Given the description of an element on the screen output the (x, y) to click on. 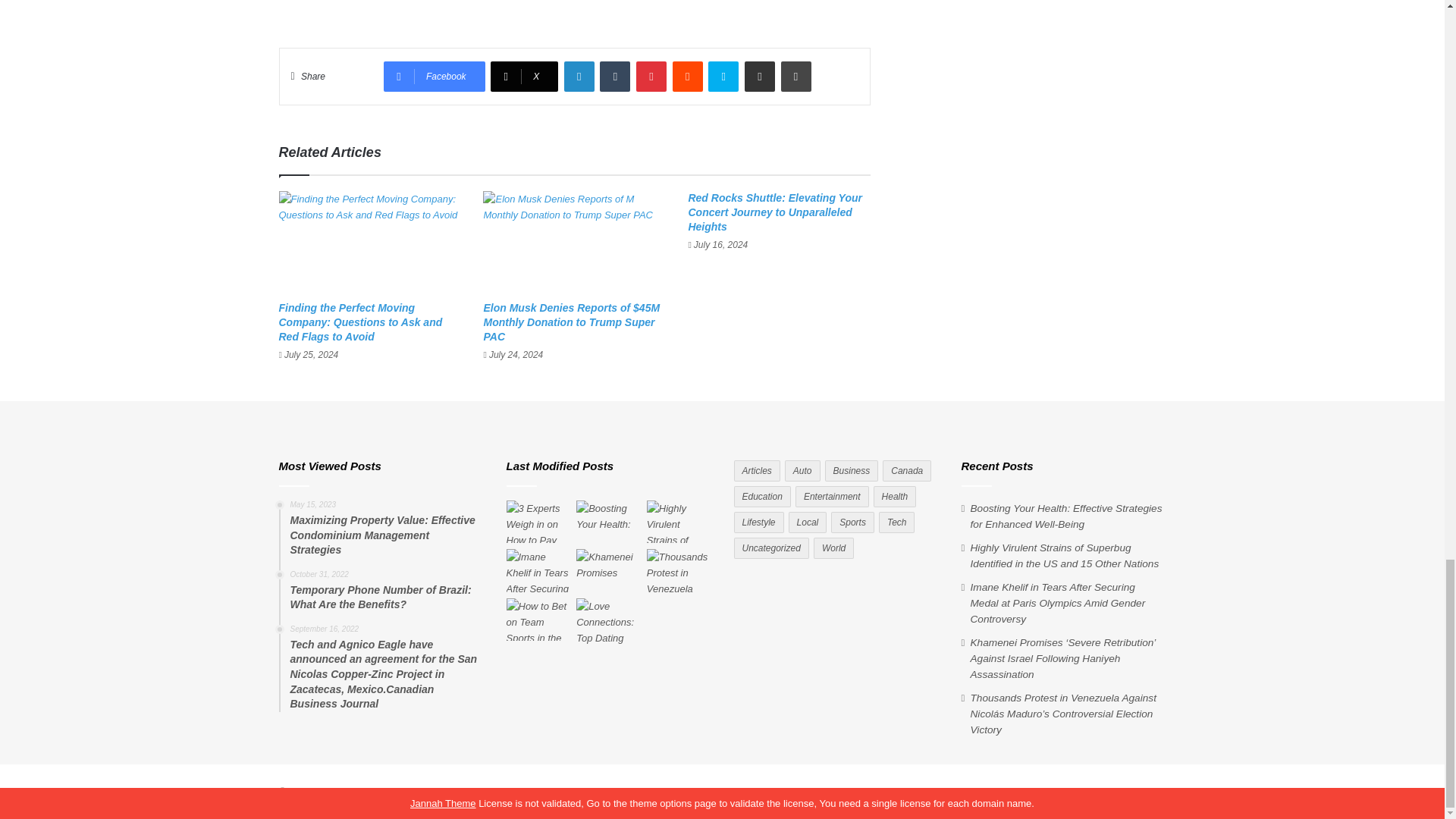
Reddit (687, 76)
Tumblr (614, 76)
Facebook (434, 76)
Skype (722, 76)
Tumblr (614, 76)
X (523, 76)
X (523, 76)
Pinterest (651, 76)
LinkedIn (579, 76)
Pinterest (651, 76)
